Given the description of an element on the screen output the (x, y) to click on. 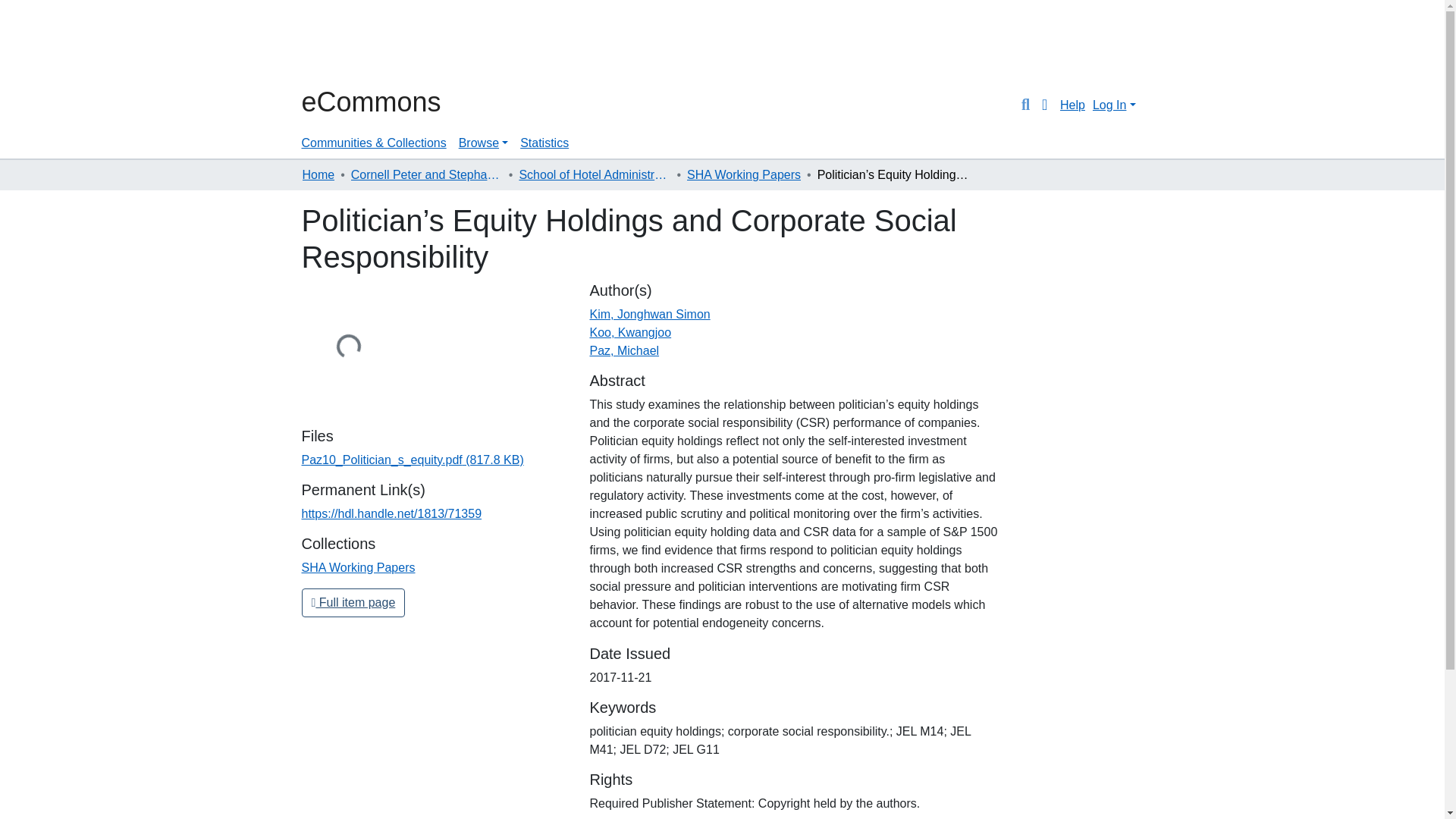
Help (1071, 104)
Search (1025, 105)
Koo, Kwangjoo (630, 332)
Language switch (1044, 105)
Statistics (544, 142)
Kim, Jonghwan Simon (649, 314)
Full item page (353, 602)
Statistics (544, 142)
Cornell University (339, 43)
Log In (1113, 104)
